Given the description of an element on the screen output the (x, y) to click on. 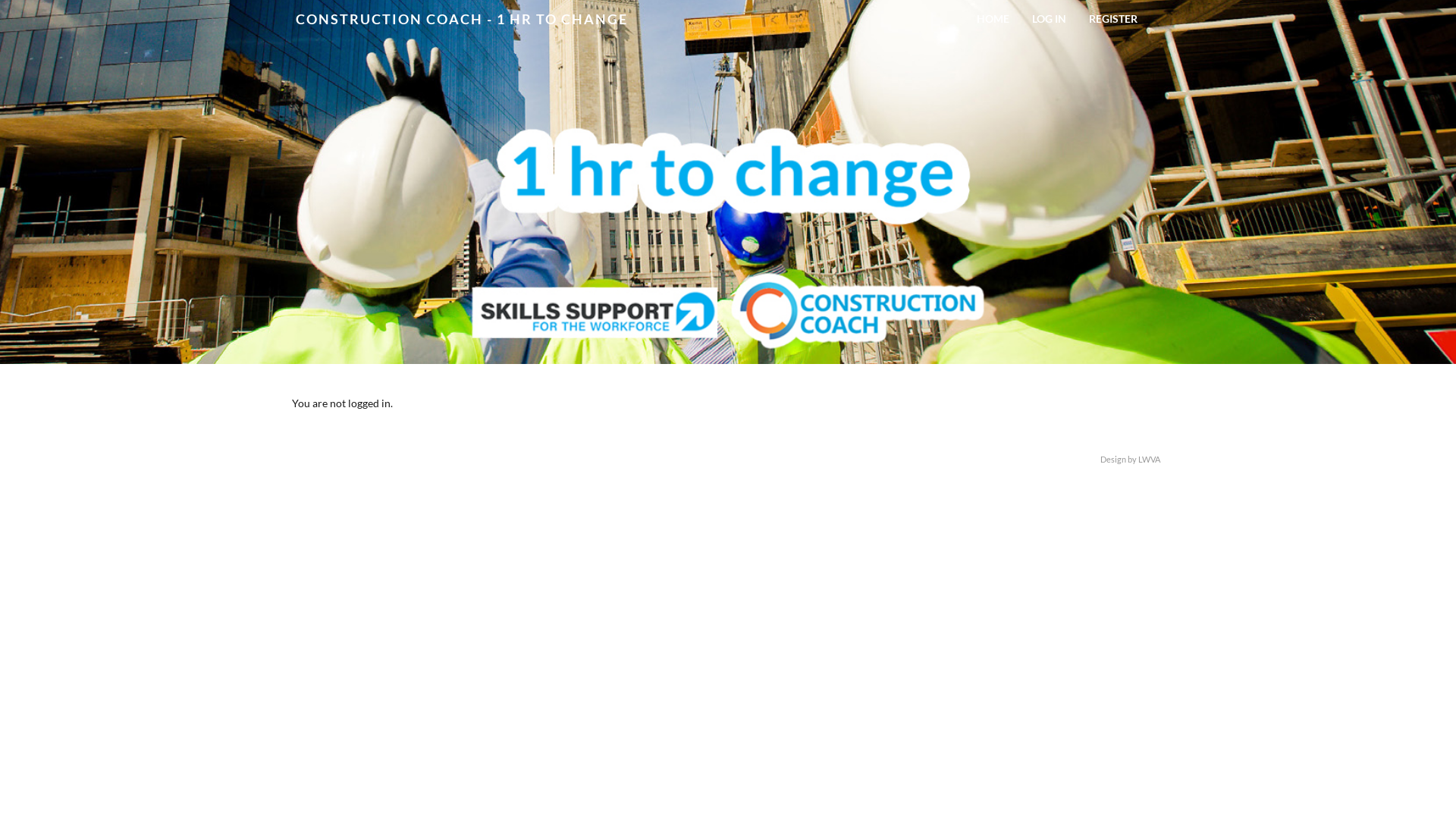
LWVA Element type: text (1149, 459)
REGISTER Element type: text (1113, 15)
LOG IN Element type: text (1048, 15)
HOME Element type: text (992, 15)
CONSTRUCTION COACH - 1 HR TO CHANGE Element type: text (461, 18)
